Given the description of an element on the screen output the (x, y) to click on. 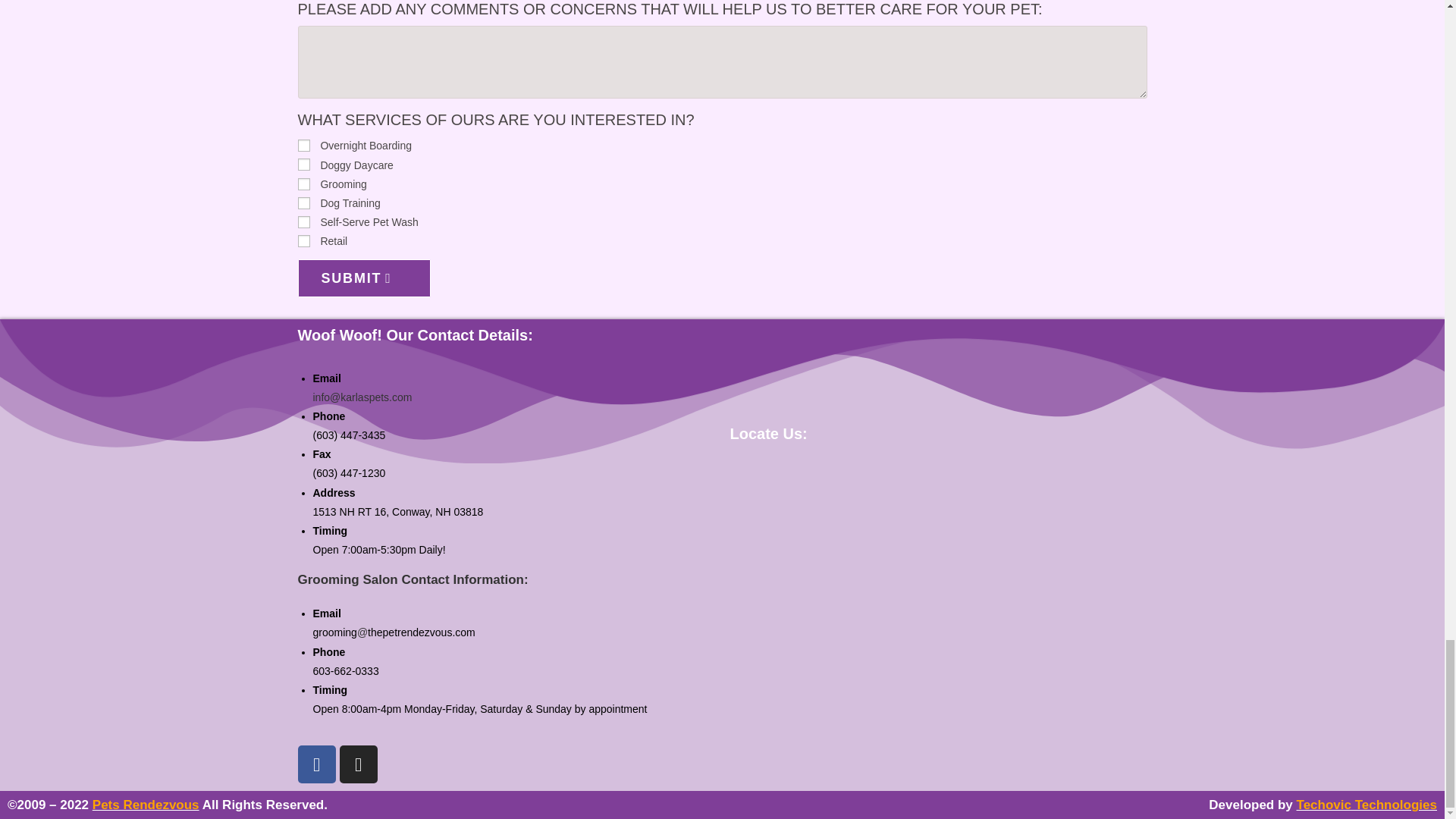
Pets Rendezvous (146, 804)
Overnight Boarding (302, 145)
Techovic Technologies (1367, 804)
1513 NH Rt 16, Conway NH (938, 569)
Doggy Daycare (302, 164)
SUBMIT (363, 278)
